Given the description of an element on the screen output the (x, y) to click on. 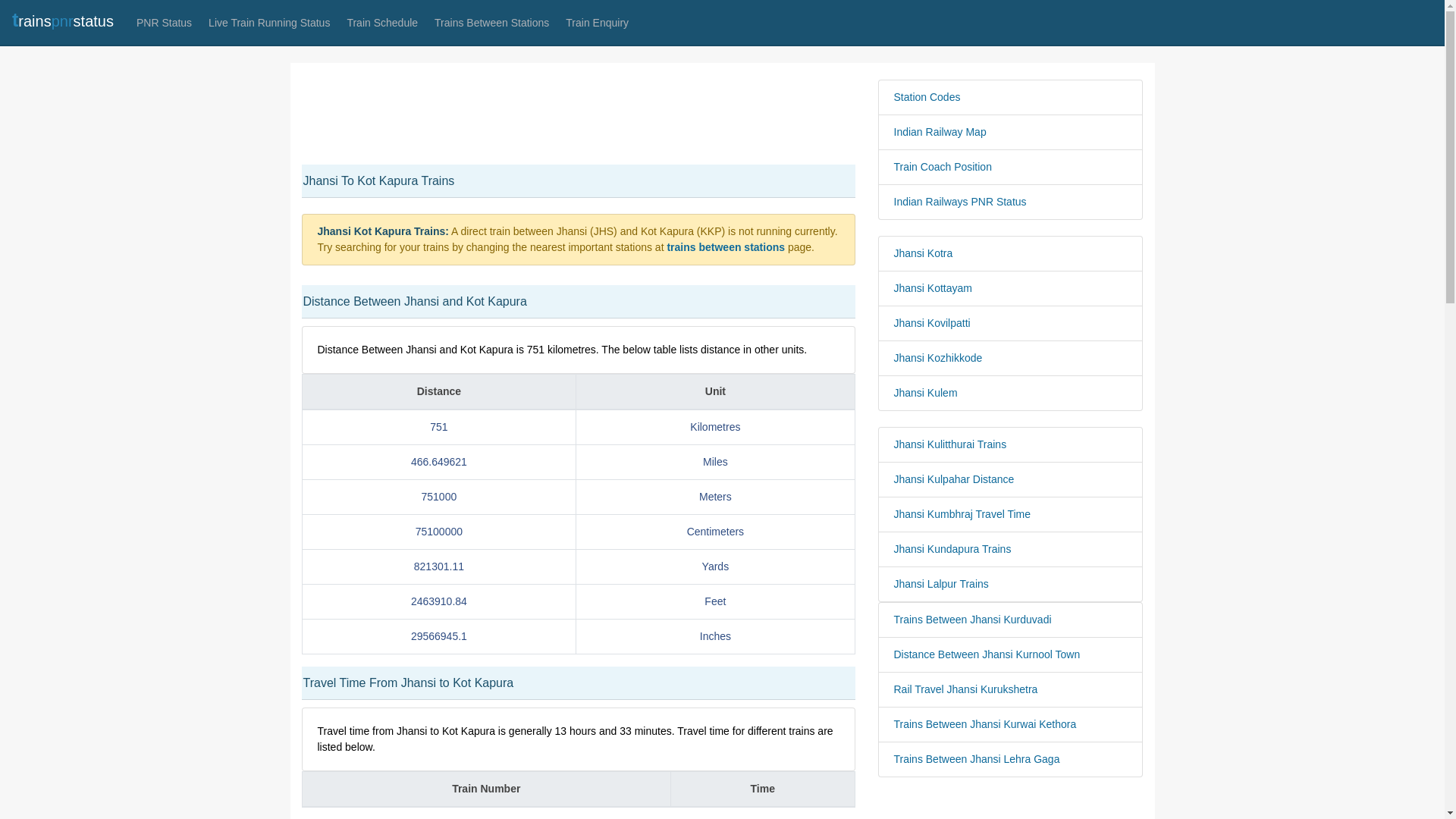
Trains Between Jhansi Kurduvadi (1009, 619)
Jhansi Kulitthurai Trains (1009, 444)
Advertisement (1009, 801)
Indian Railway Map (1009, 131)
Jhansi Kotra (1009, 253)
Distance Between Jhansi Kurnool Town (1009, 654)
Rail Travel Jhansi Kurukshetra (1009, 689)
Advertisement (578, 113)
Jhansi Kottayam (1009, 288)
Train Coach Position (1009, 167)
